Given the description of an element on the screen output the (x, y) to click on. 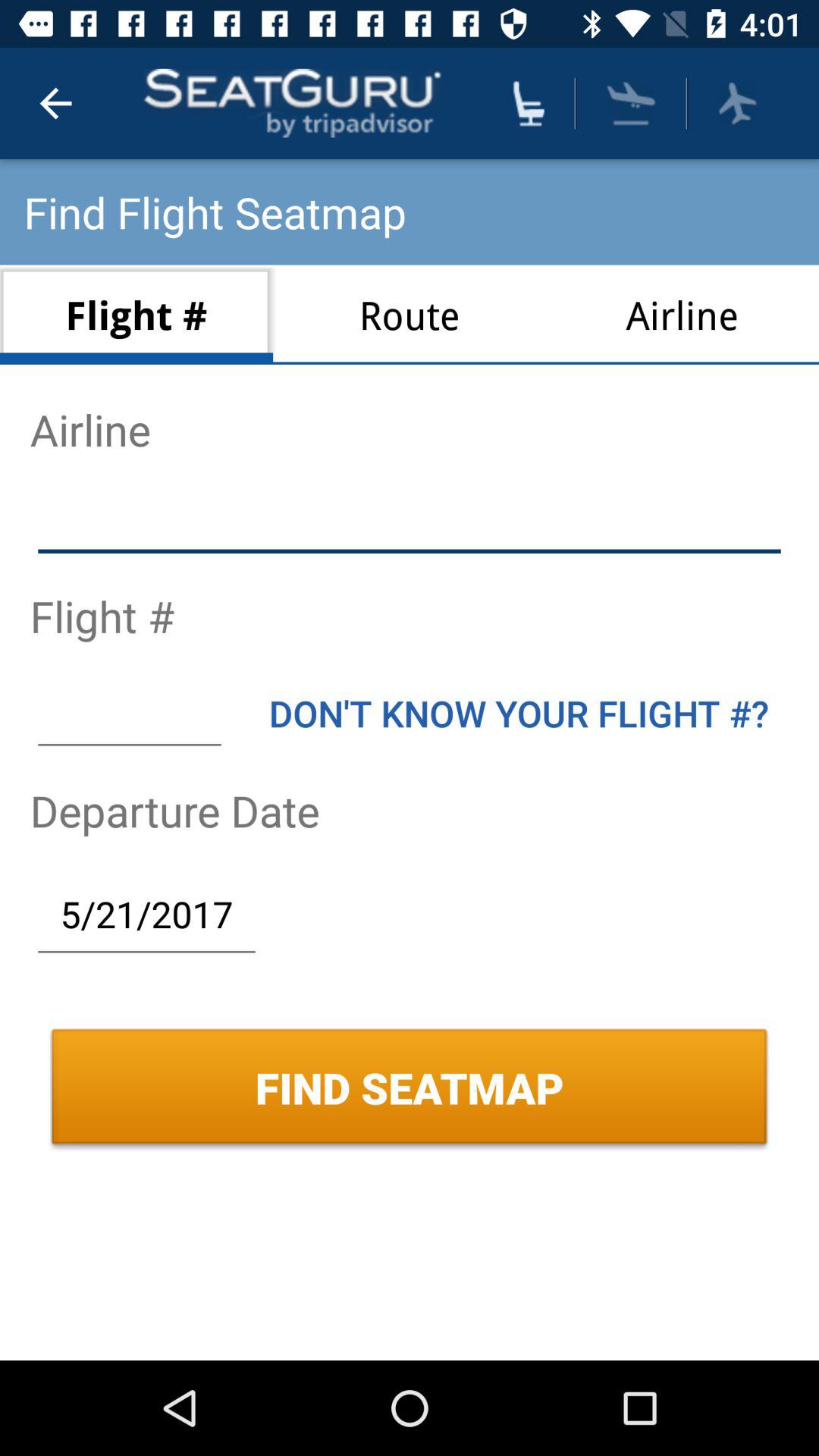
air borne (630, 103)
